Given the description of an element on the screen output the (x, y) to click on. 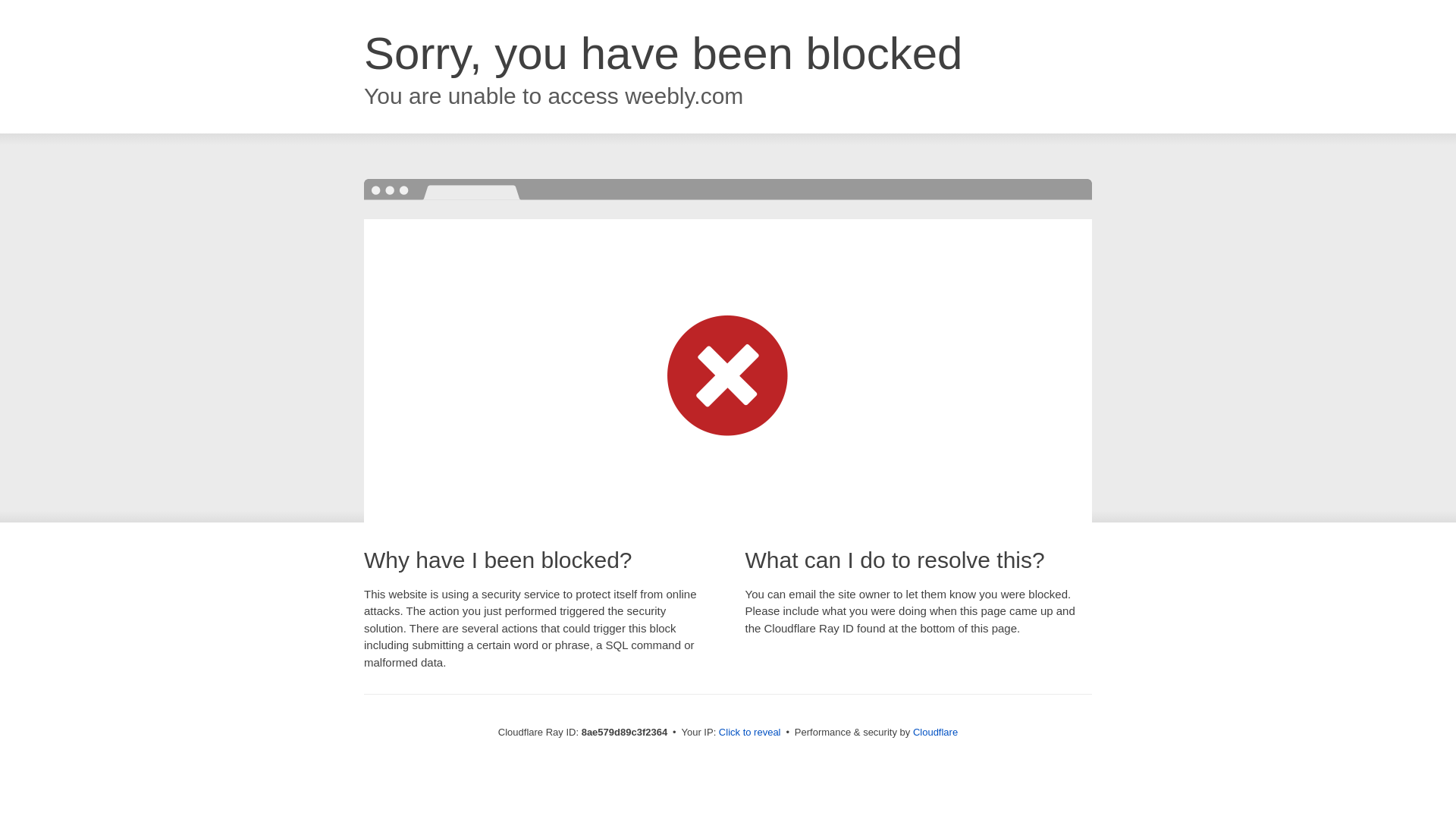
Cloudflare (935, 731)
Click to reveal (749, 732)
